Given the description of an element on the screen output the (x, y) to click on. 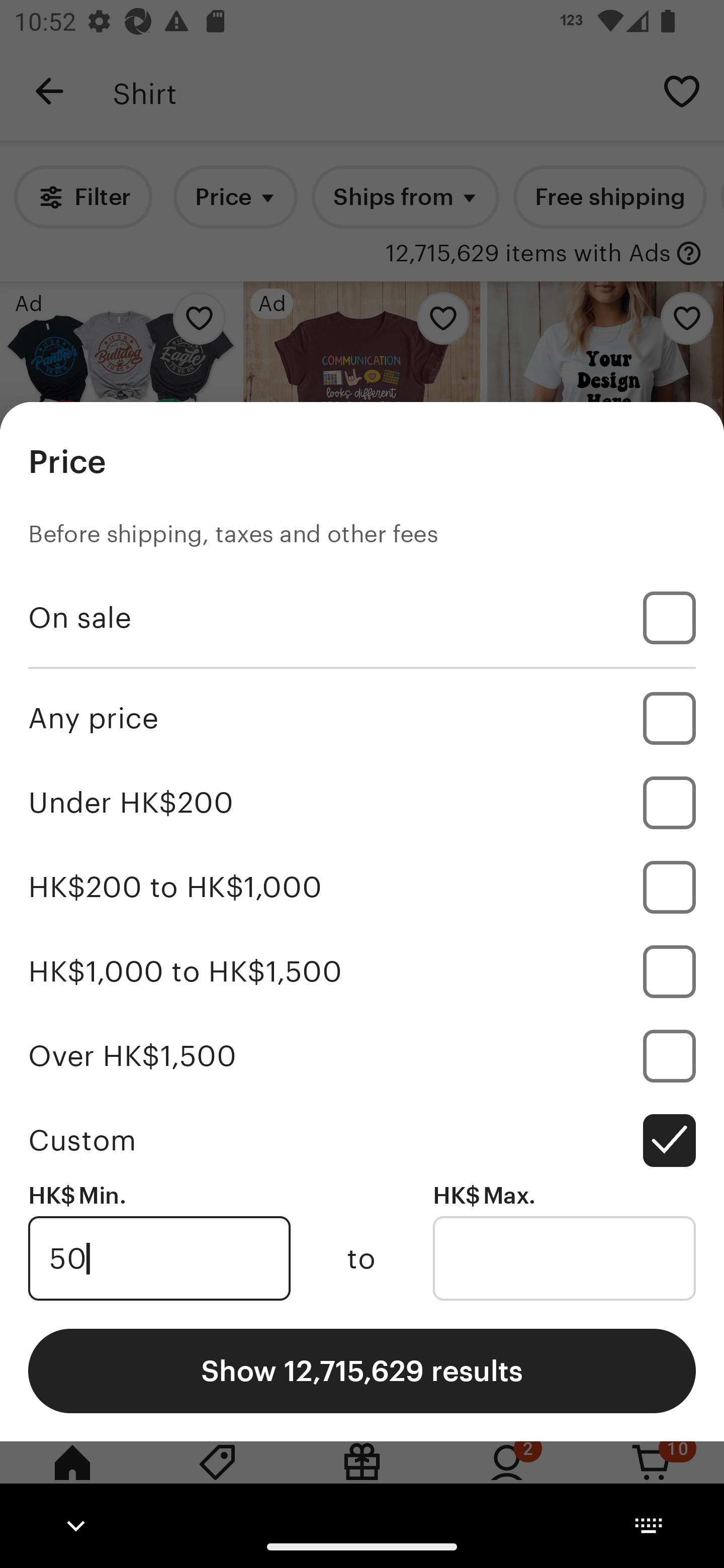
On sale (362, 617)
Any price (362, 717)
Under HK$200 (362, 802)
HK$200 to HK$1,000 (362, 887)
HK$1,000 to HK$1,500 (362, 970)
Over HK$1,500 (362, 1054)
Custom (362, 1139)
50 (159, 1257)
Show 12,715,629 results (361, 1370)
